Given the description of an element on the screen output the (x, y) to click on. 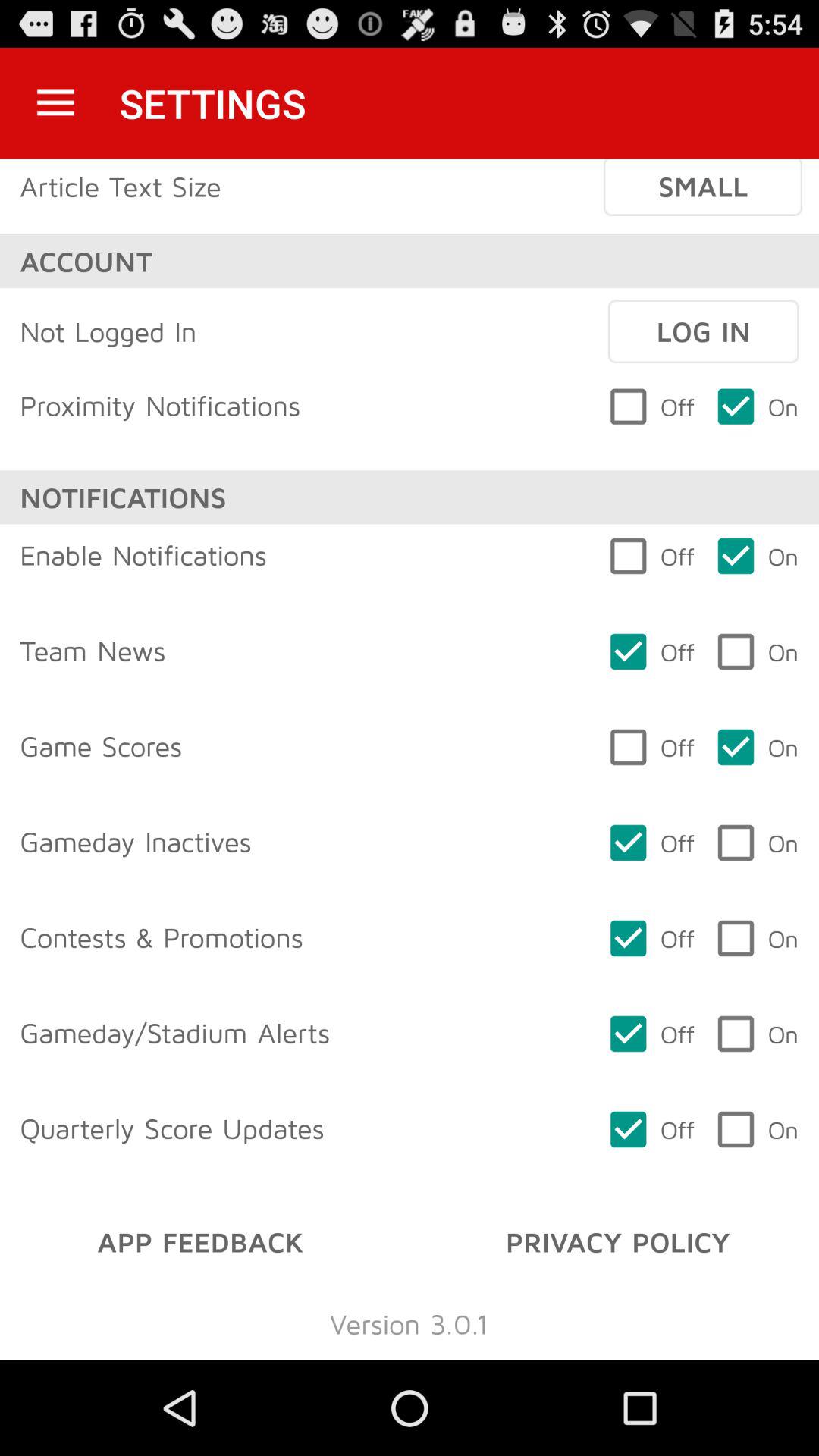
tap the log in (703, 331)
